Given the description of an element on the screen output the (x, y) to click on. 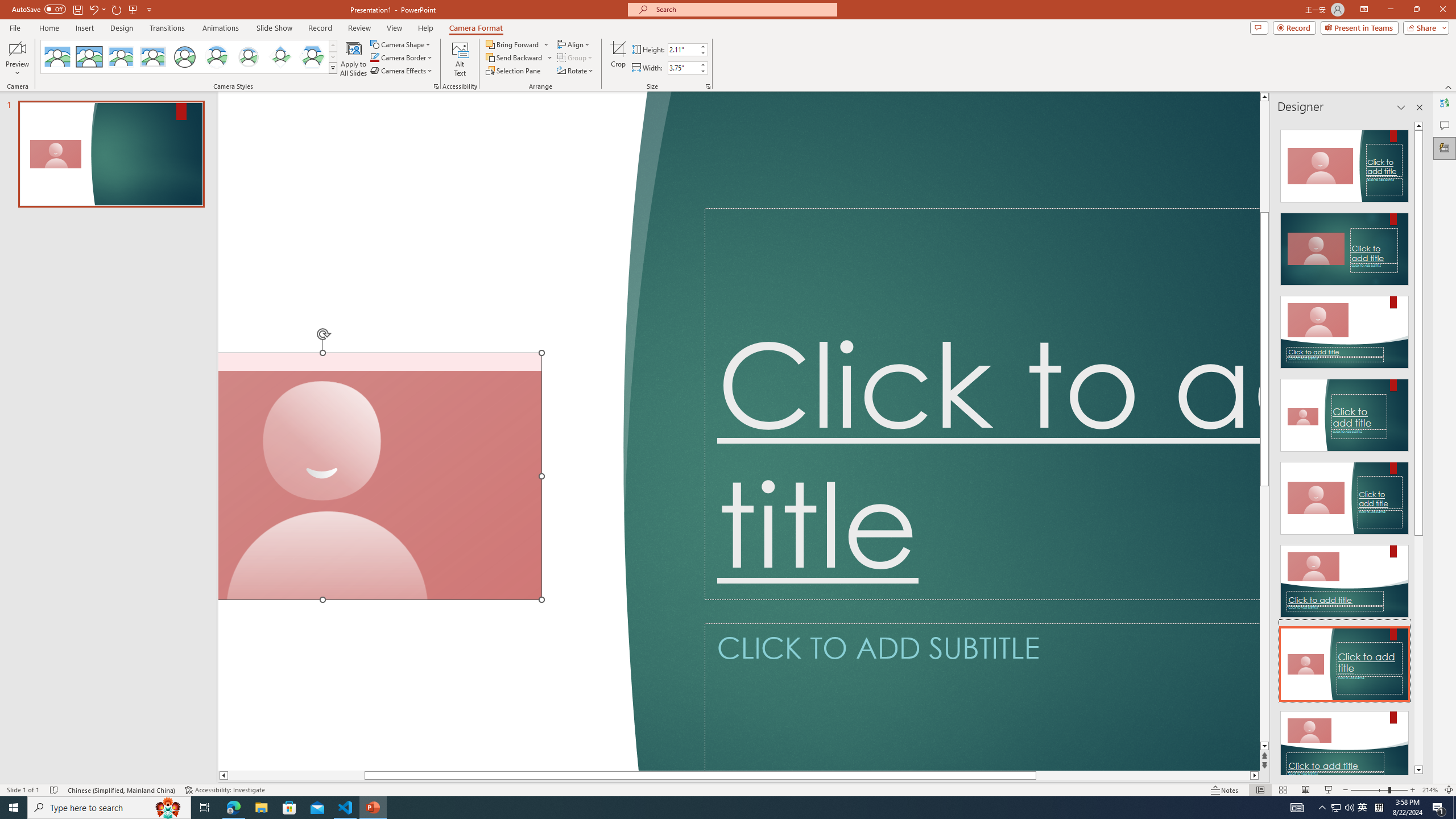
Simple Frame Rectangle (88, 56)
Center Shadow Circle (216, 56)
Rotate (575, 69)
Camera Border Blue, Accent 1 (374, 56)
Simple Frame Circle (184, 56)
Camera Border (401, 56)
Center Shadow Diamond (280, 56)
